Given the description of an element on the screen output the (x, y) to click on. 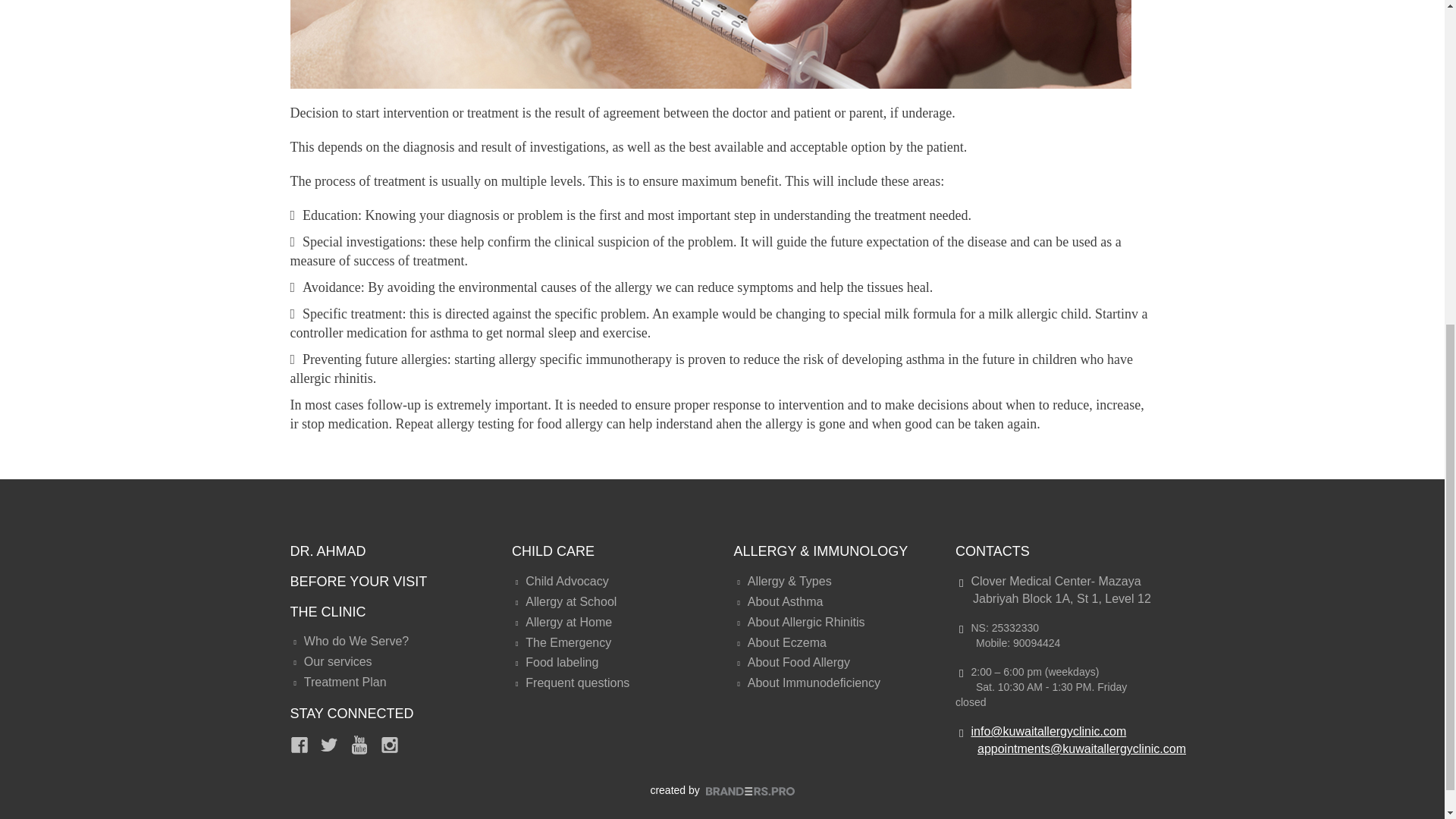
DR. AHMAD (327, 550)
BEFORE YOUR VISIT (357, 581)
